Given the description of an element on the screen output the (x, y) to click on. 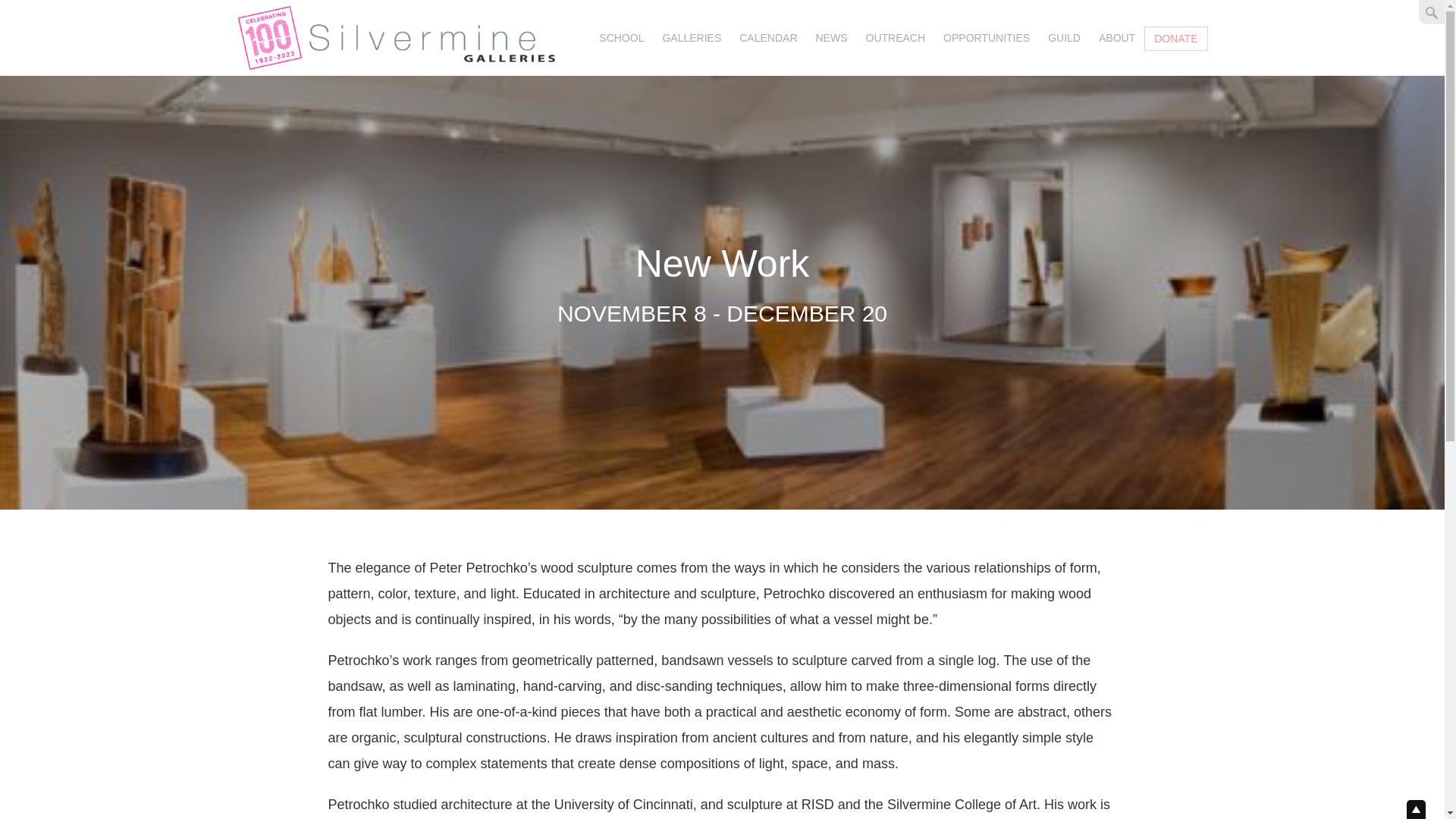
Search (68, 4)
DONATE (1175, 38)
OUTREACH (895, 38)
GALLERIES (691, 38)
OPPORTUNITIES (986, 38)
CALENDAR (768, 38)
